Given the description of an element on the screen output the (x, y) to click on. 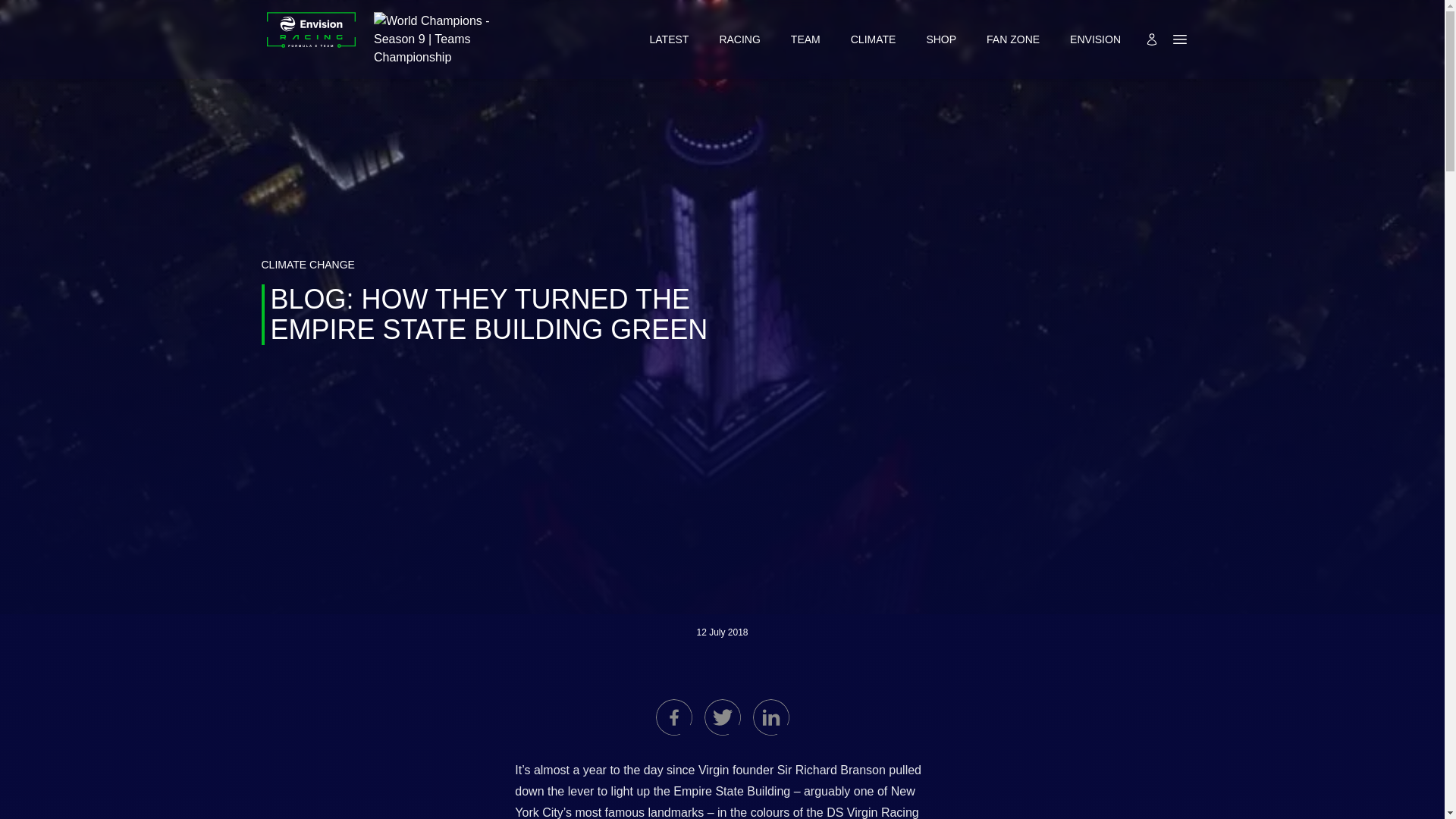
ENVISION (1095, 38)
FAN ZONE (1013, 38)
Sign up (1151, 38)
RACING (739, 38)
Menu (1179, 39)
CLIMATE (873, 38)
SHOP (941, 38)
Envision Racing (310, 39)
TEAM (805, 38)
LATEST (668, 38)
